Given the description of an element on the screen output the (x, y) to click on. 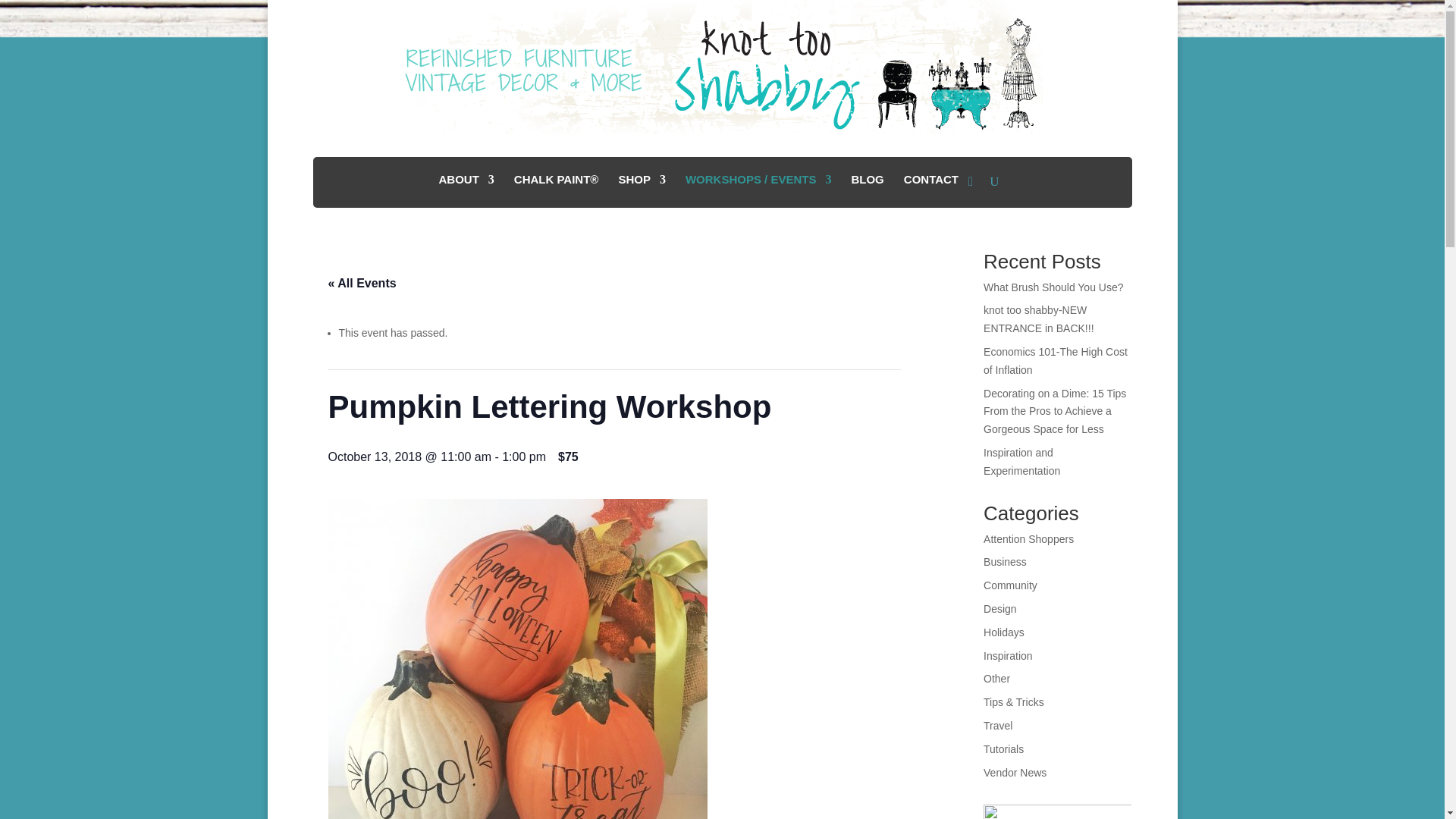
SHOP (641, 185)
CONTACT (931, 185)
ABOUT (465, 185)
KnotTooShabby-mobilelogo (721, 67)
BLOG (866, 185)
